Given the description of an element on the screen output the (x, y) to click on. 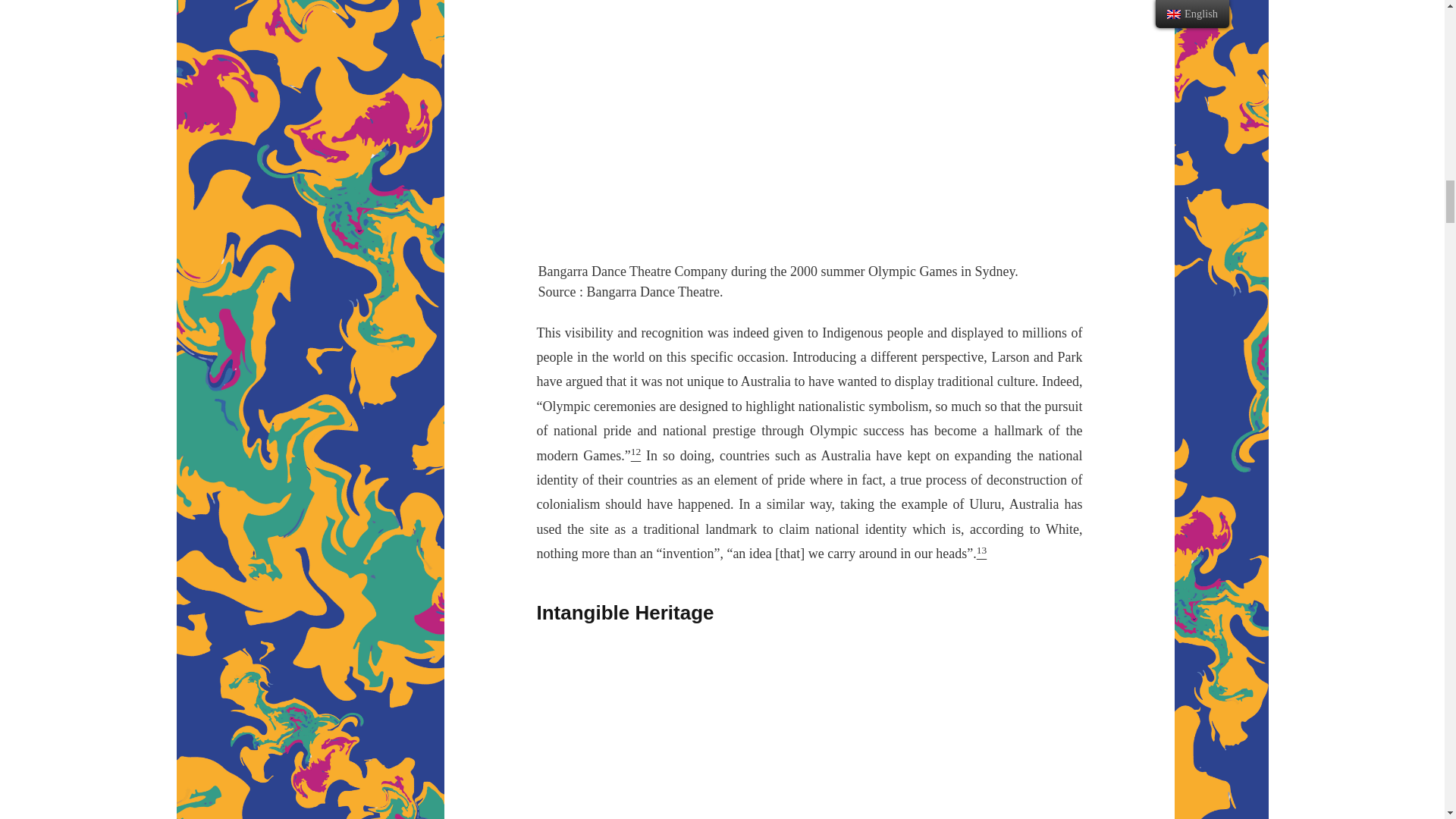
13 (981, 553)
12 (636, 455)
